Given the description of an element on the screen output the (x, y) to click on. 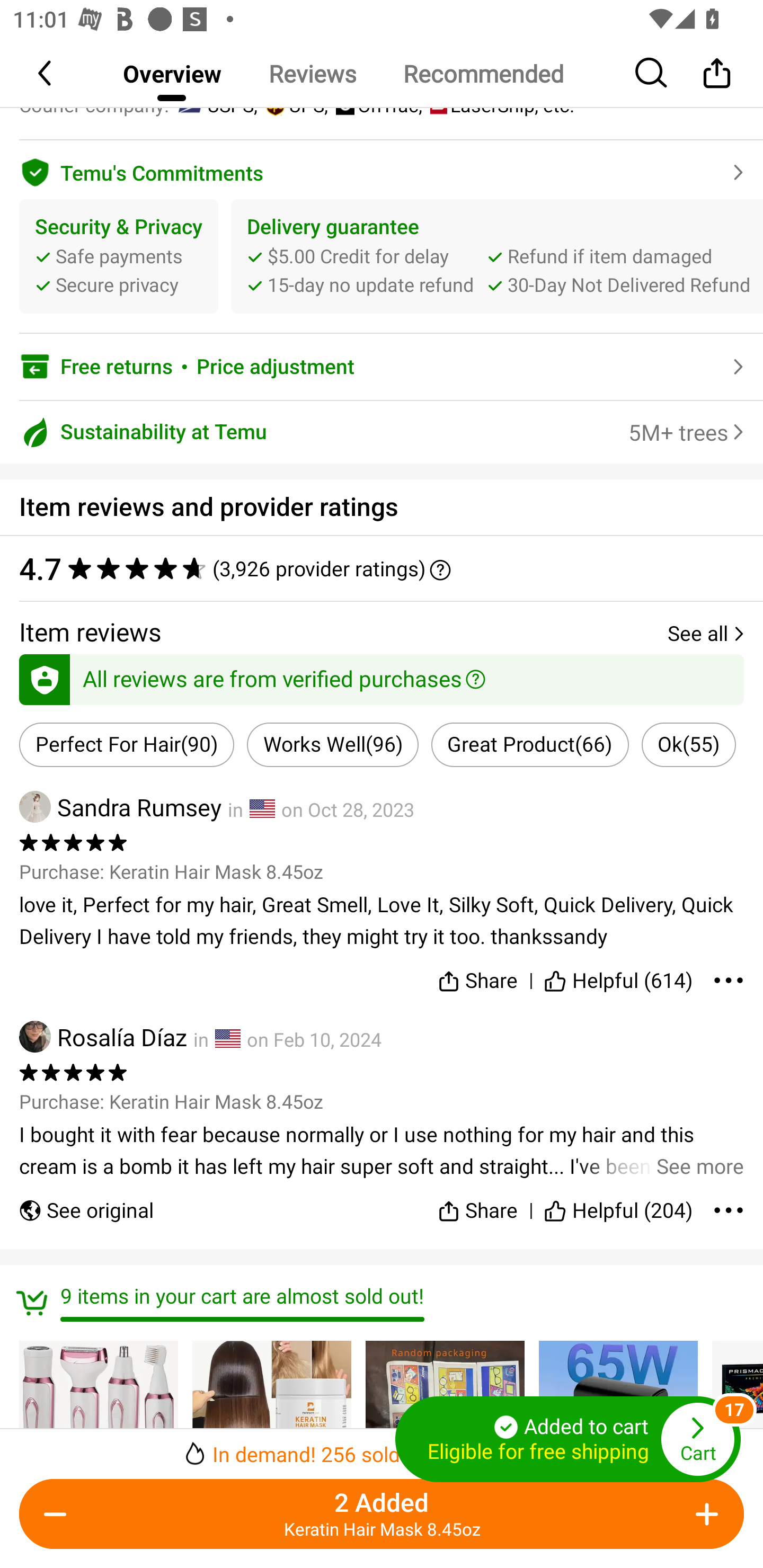
Overview (171, 72)
Reviews (311, 72)
Recommended (482, 72)
Back (46, 72)
Share (716, 72)
Temu's Commitments (381, 170)
Security & Privacy Safe payments Secure privacy (118, 256)
Free returns￼Price adjustment (381, 366)
Sustainability at Temu 5M+ trees (381, 432)
4.7 ‪(3,926 provider ratings) (381, 568)
All reviews are from verified purchases  (381, 676)
Perfect For Hair(90) (126, 744)
Works Well(96) (332, 744)
Great Product(66) (529, 744)
Ok(55) (688, 744)
Sandra Rumsey (120, 806)
  Share (477, 976)
  Helpful (614) (618, 976)
Rosalía Díaz (102, 1036)
See more (381, 1150)
  See original (86, 1202)
  Share (477, 1202)
  Helpful (204) (618, 1202)
￼ Added to cart Eligible for free shipping Cart (567, 1439)
Decrease Quantity Button (59, 1513)
Add Quantity button (703, 1513)
